Given the description of an element on the screen output the (x, y) to click on. 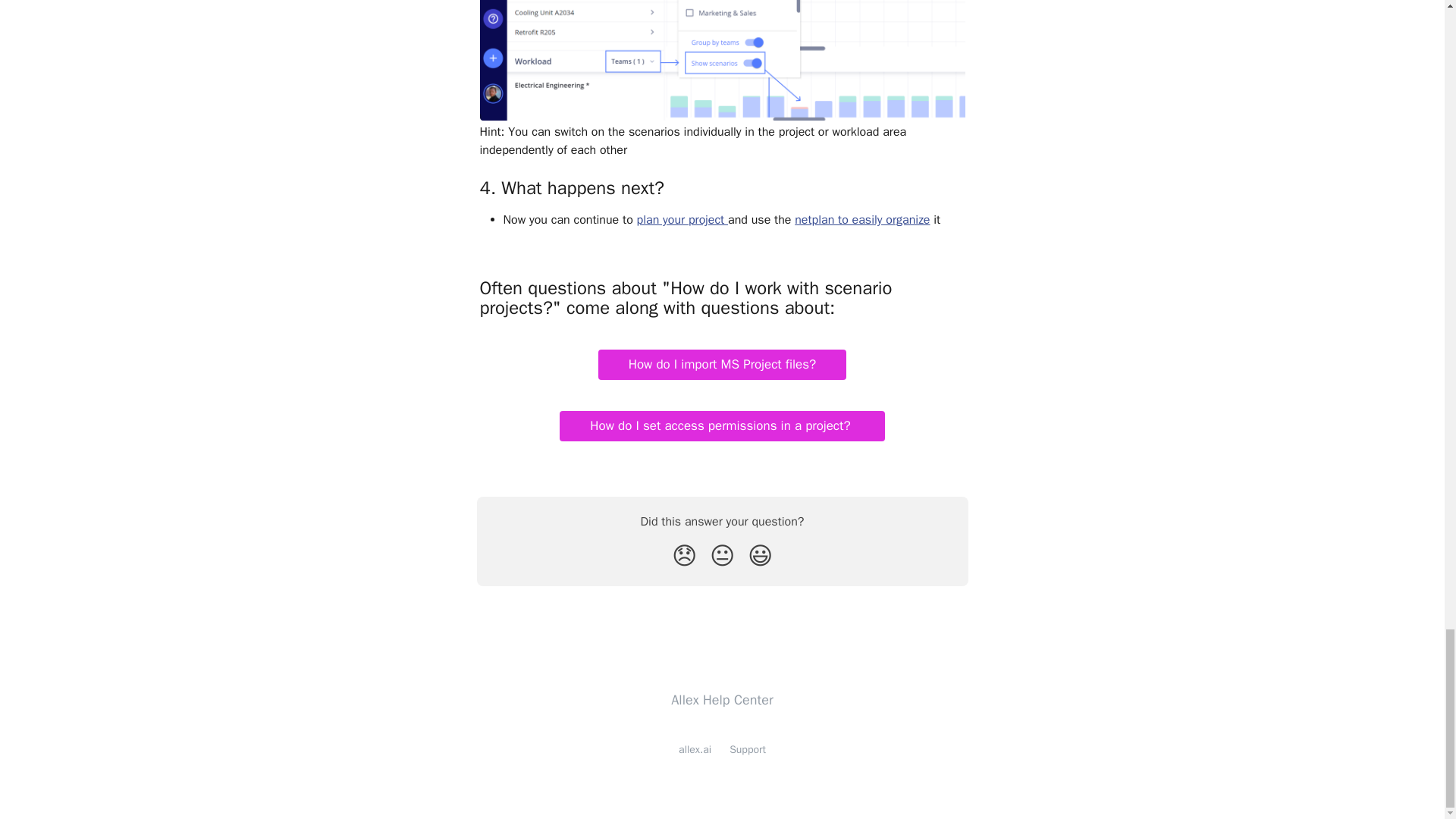
How do I import MS Project files? (722, 364)
Support (747, 748)
Allex Help Center (722, 699)
allex.ai (694, 748)
netplan to easily organize (862, 219)
plan your project (682, 219)
How do I set access permissions in a project? (721, 426)
